Given the description of an element on the screen output the (x, y) to click on. 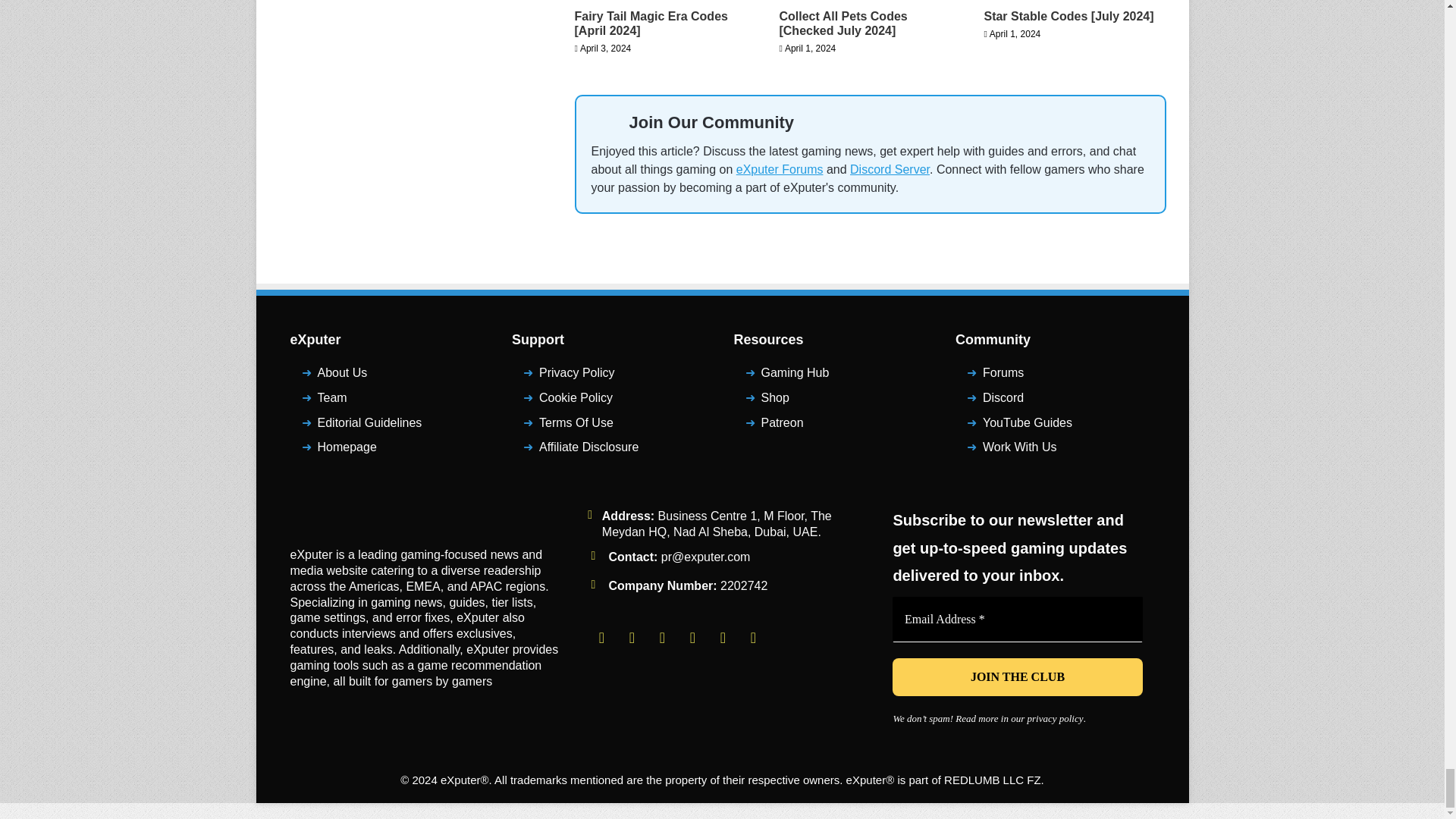
JOIN THE  CLUB (1017, 677)
Email Address (1017, 619)
